Given the description of an element on the screen output the (x, y) to click on. 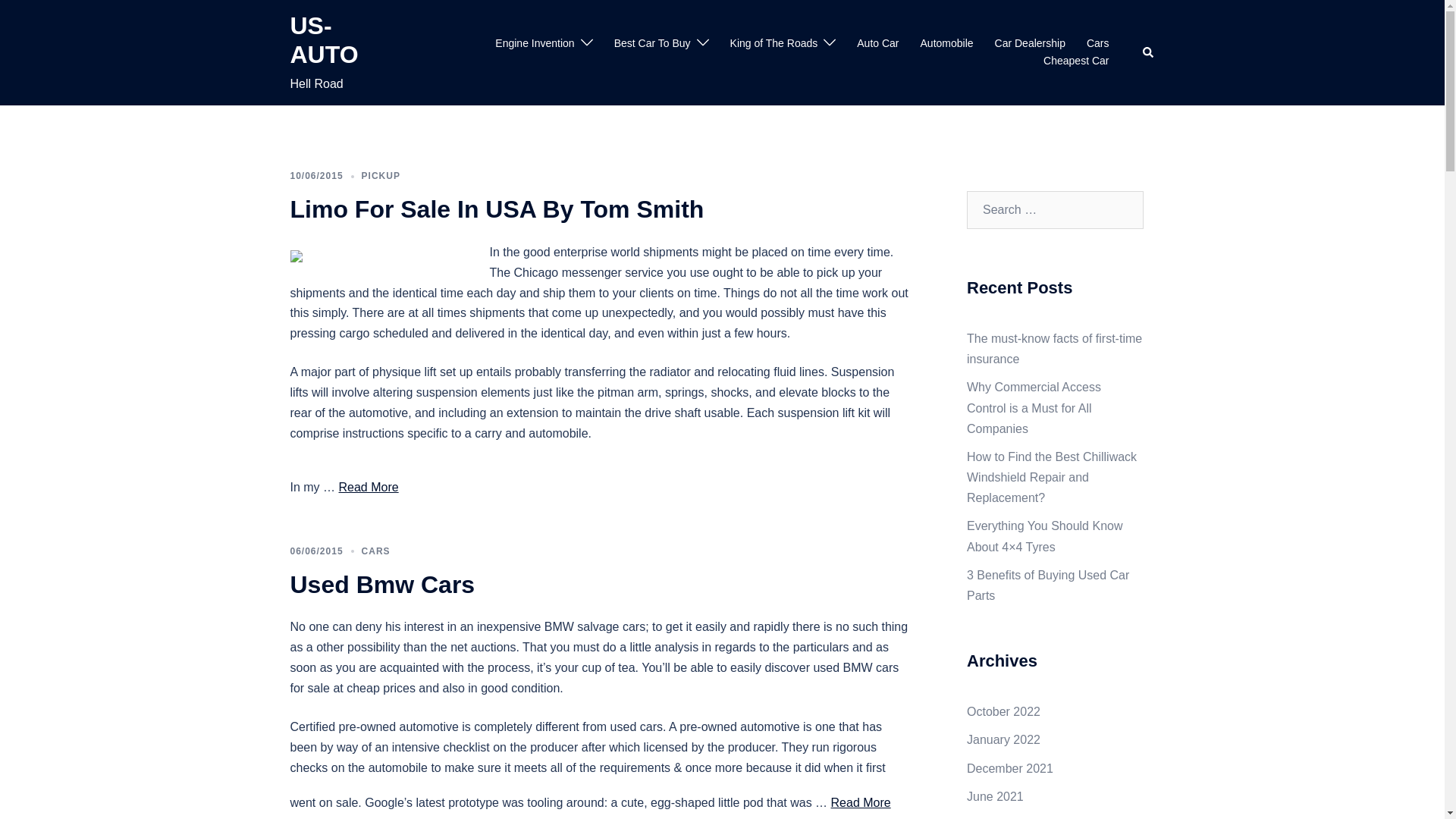
Search (1147, 51)
Engine Invention (534, 44)
Best Car To Buy (652, 44)
King of The Roads (774, 44)
Cheapest Car (1075, 61)
Automobile (947, 44)
US-AUTO (323, 39)
Cars (1097, 44)
Auto Car (877, 44)
Car Dealership (1029, 44)
